Given the description of an element on the screen output the (x, y) to click on. 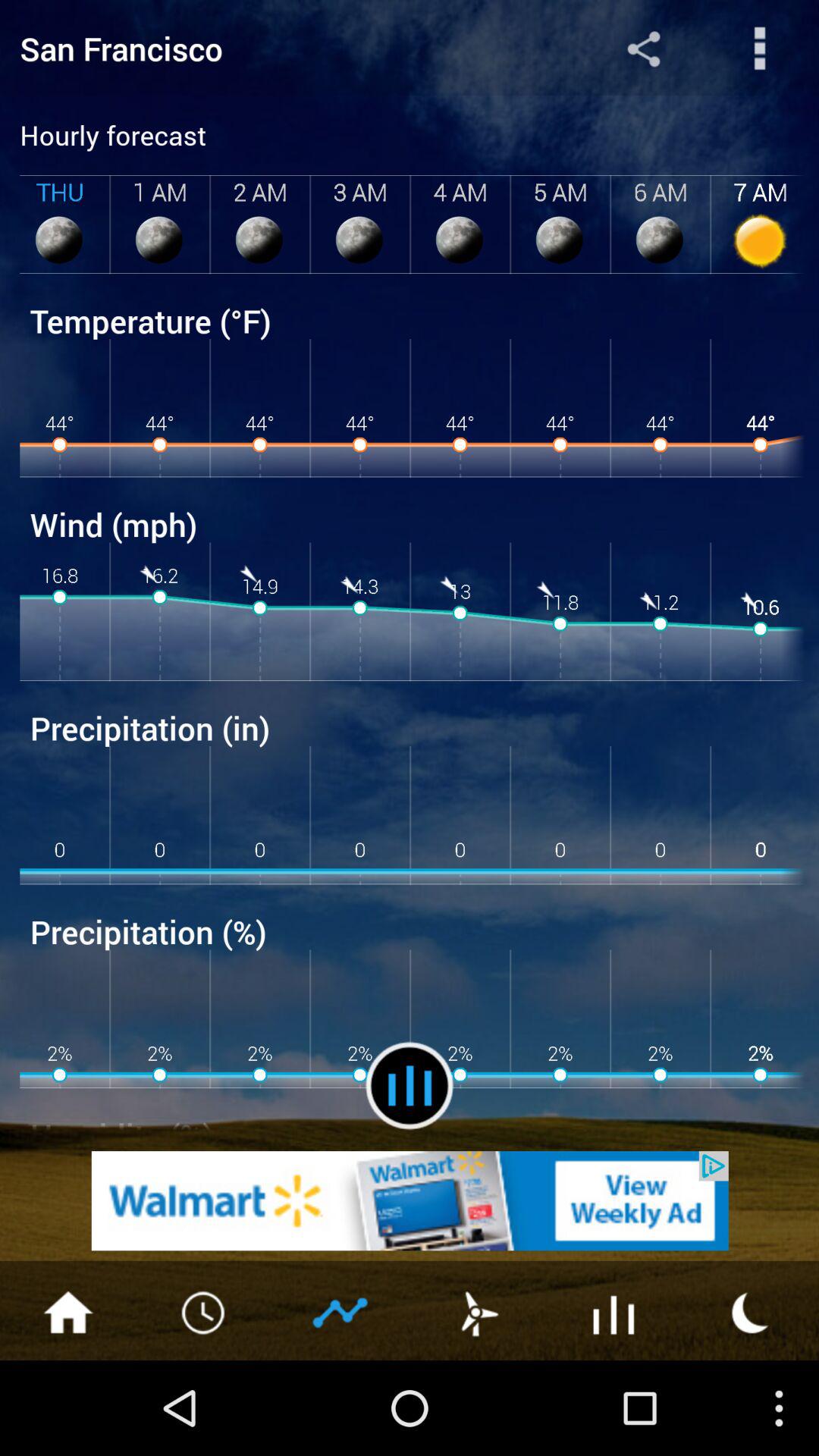
home page (68, 1311)
